Given the description of an element on the screen output the (x, y) to click on. 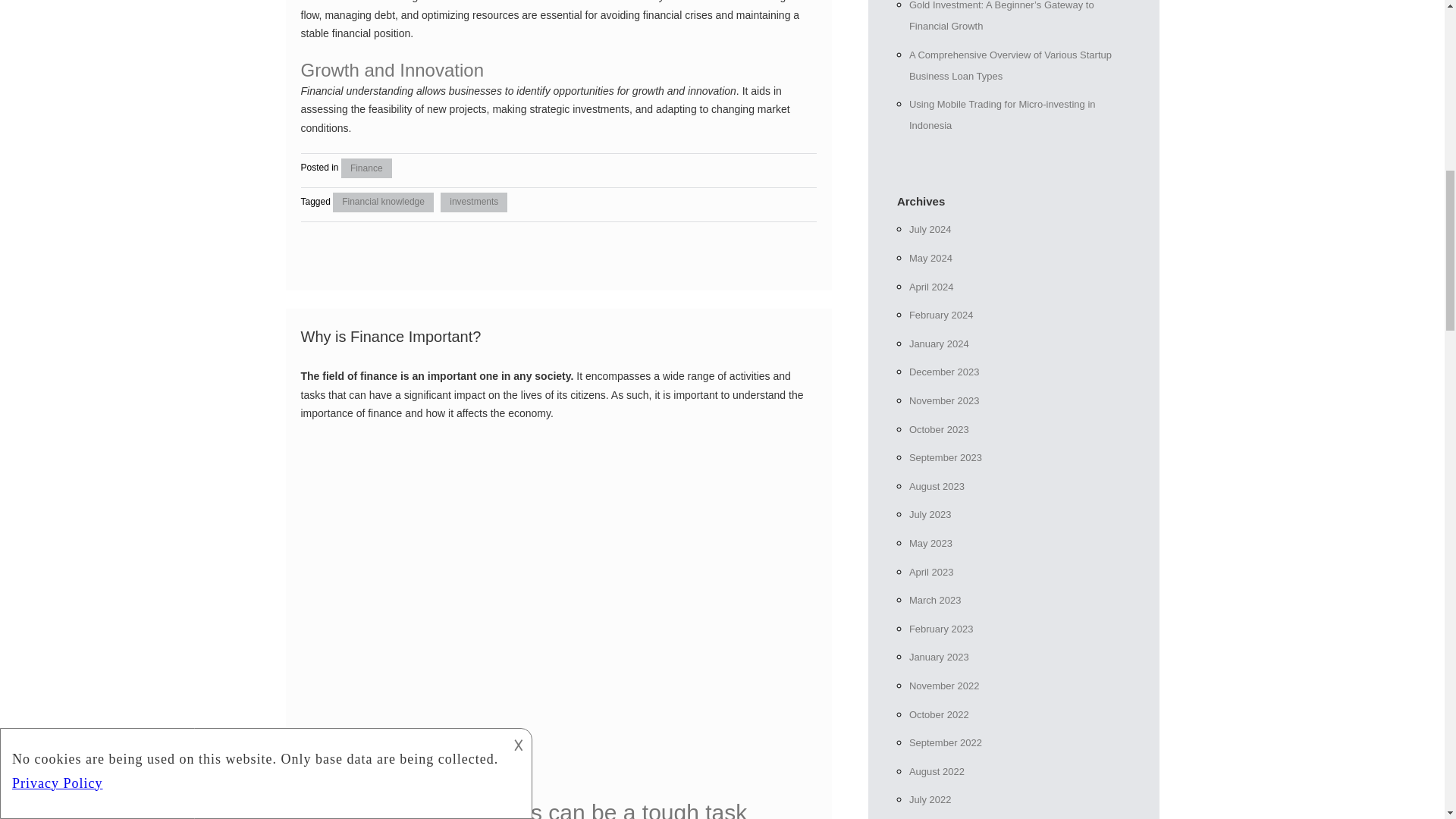
February 2024 (941, 315)
Why is Finance Important? (389, 336)
April 2024 (930, 286)
May 2024 (930, 257)
Financial knowledge (383, 202)
Finance (365, 168)
December 2023 (943, 371)
Using Mobile Trading for Micro-investing in Indonesia (1002, 114)
July 2024 (930, 229)
market (773, 109)
investments (473, 202)
January 2024 (938, 343)
